Given the description of an element on the screen output the (x, y) to click on. 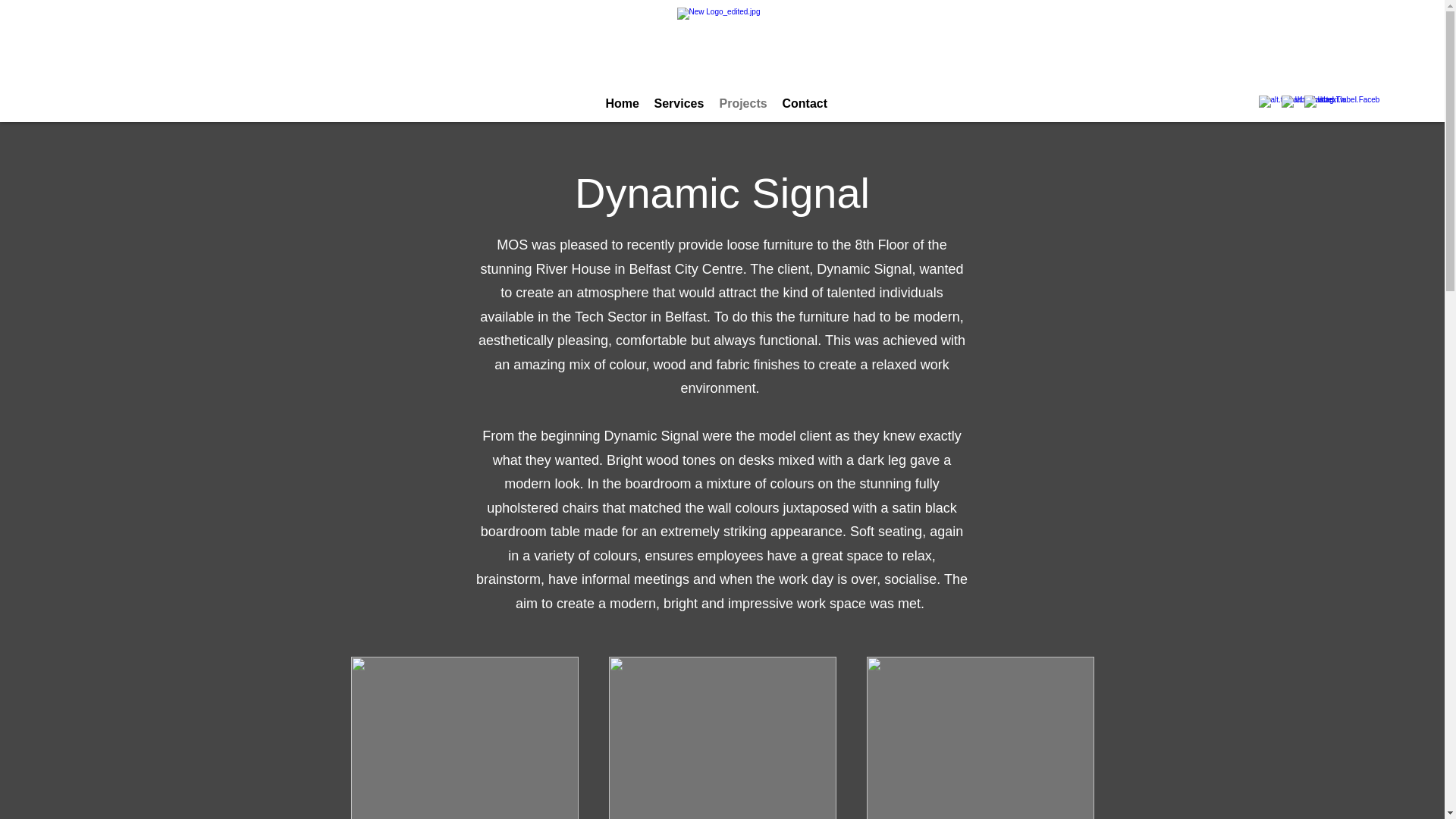
Contact (804, 103)
Home (621, 103)
Projects (742, 103)
Services (678, 103)
